Given the description of an element on the screen output the (x, y) to click on. 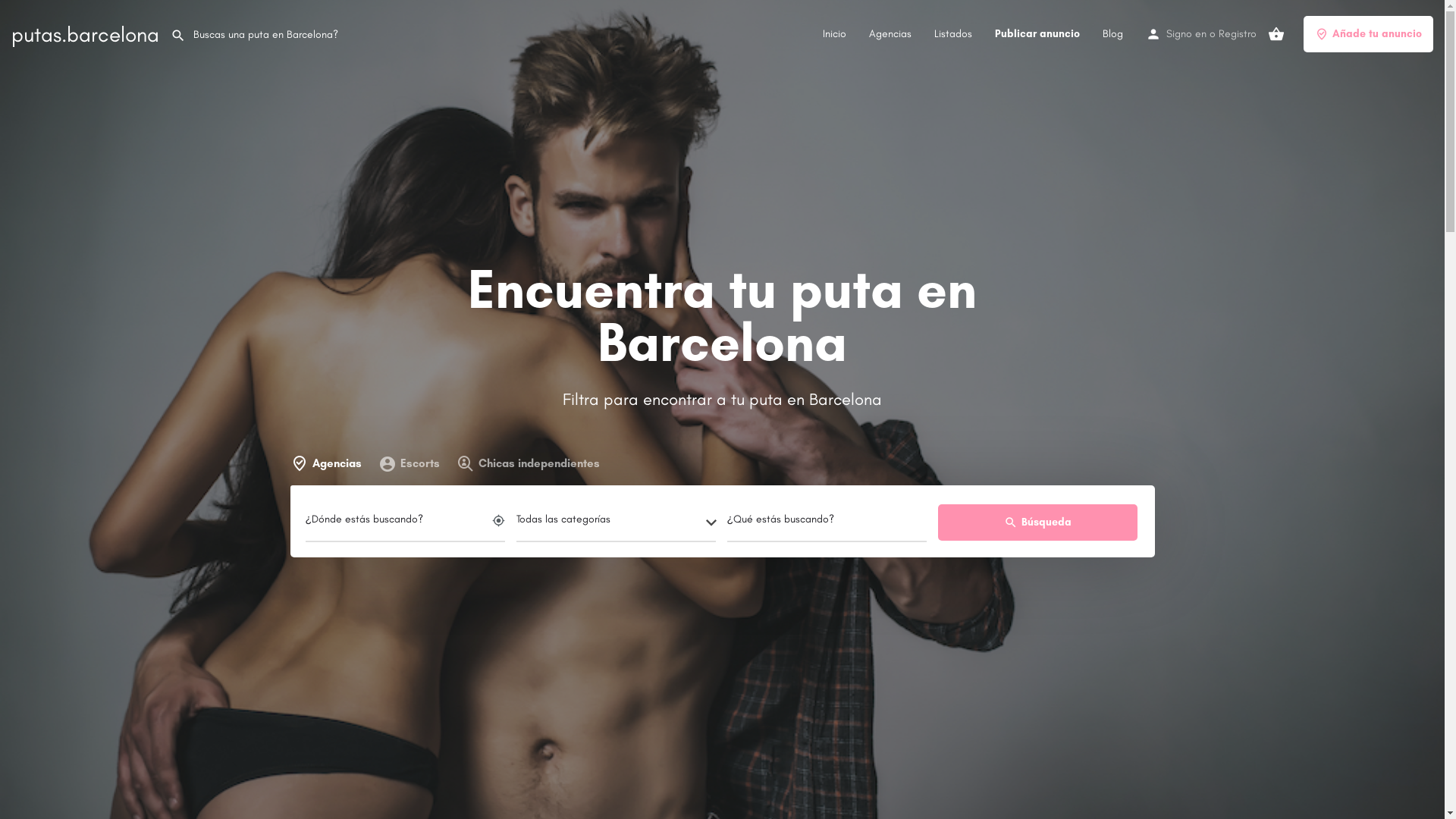
Escorts Element type: text (408, 463)
Registro Element type: text (1237, 33)
Listados Element type: text (953, 32)
Chicas independientes Element type: text (527, 463)
Ver su carrito de compras Element type: hover (1275, 33)
putas.barcelona Element type: text (85, 34)
Signo en Element type: text (1186, 33)
Blog Element type: text (1112, 32)
Agencias Element type: text (890, 32)
Agencias Element type: text (328, 463)
Publicar anuncio Element type: text (1036, 32)
Inicio Element type: text (834, 32)
